Given the description of an element on the screen output the (x, y) to click on. 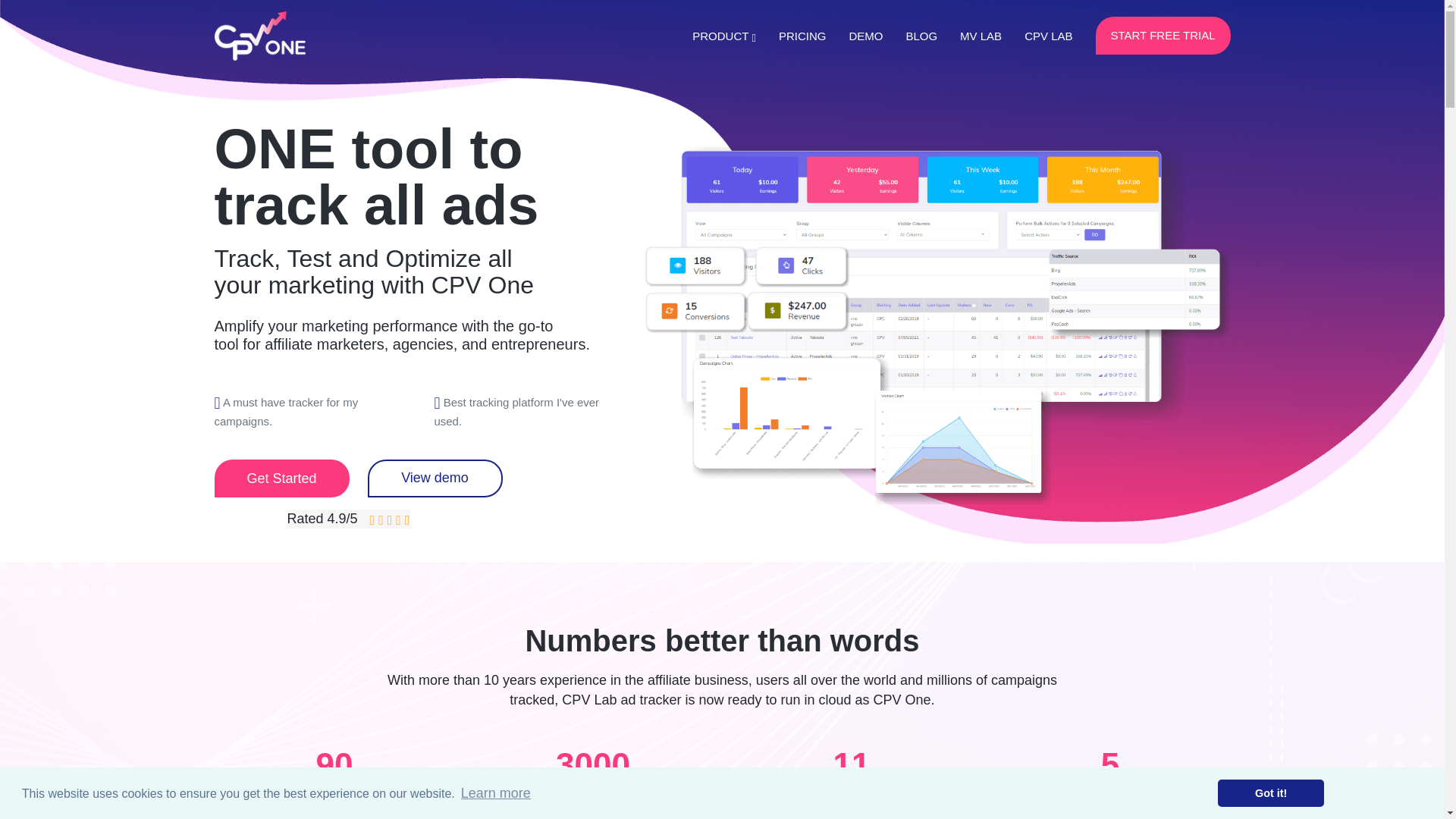
PRODUCT (712, 35)
DEMO (853, 35)
PRICING (791, 35)
CPV LAB (1047, 35)
Got it! (1270, 792)
START FREE TRIAL (1162, 35)
MV LAB (969, 35)
BLOG (909, 35)
Get Started (281, 478)
View demo (434, 478)
Learn more (495, 793)
